Given the description of an element on the screen output the (x, y) to click on. 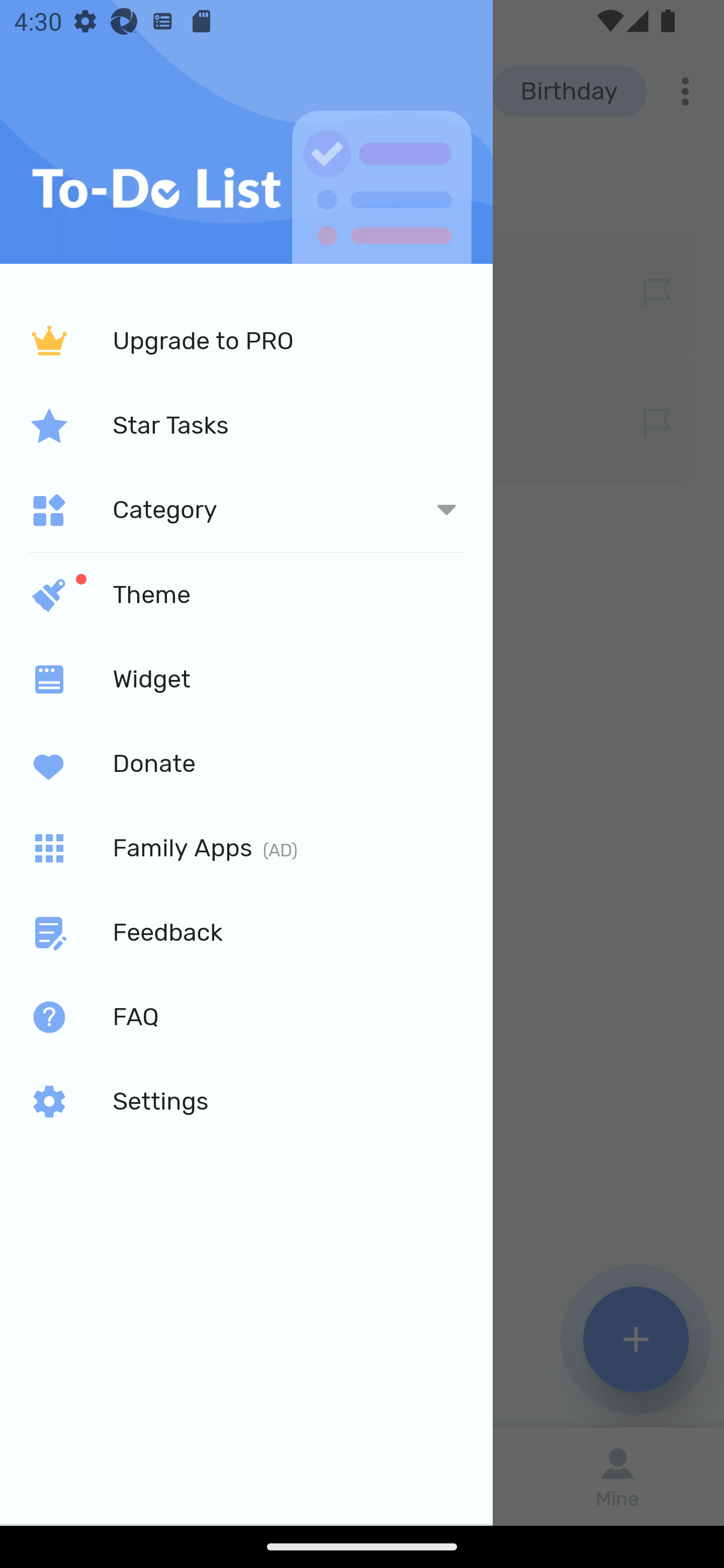
Upgrade to PRO (246, 341)
Star Tasks (246, 425)
Theme (246, 593)
Widget (246, 678)
Donate (246, 763)
Family Apps  (AD) (246, 847)
Feedback (246, 932)
FAQ (246, 1017)
Settings (246, 1101)
